Given the description of an element on the screen output the (x, y) to click on. 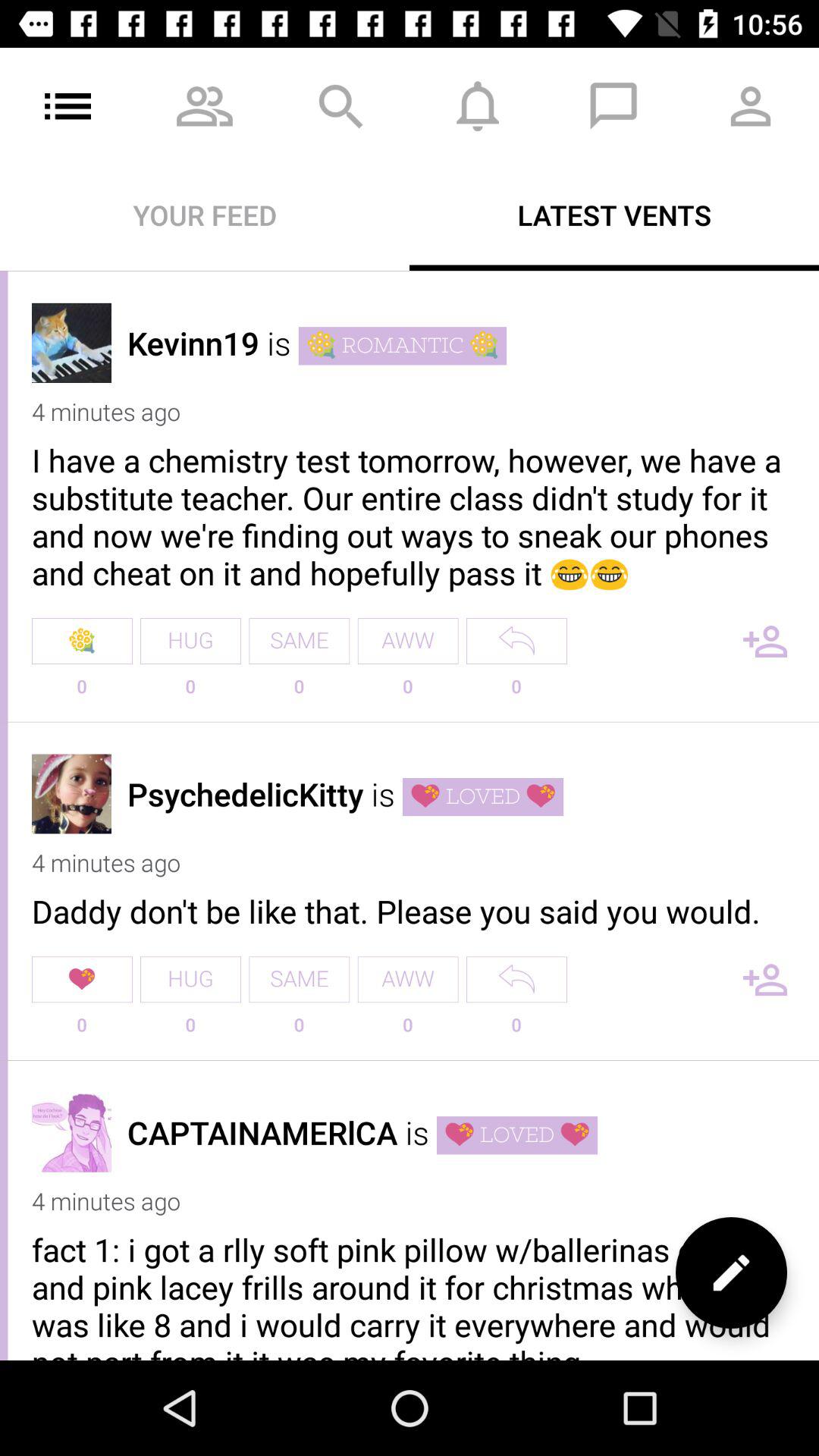
edit the page (731, 1272)
